Given the description of an element on the screen output the (x, y) to click on. 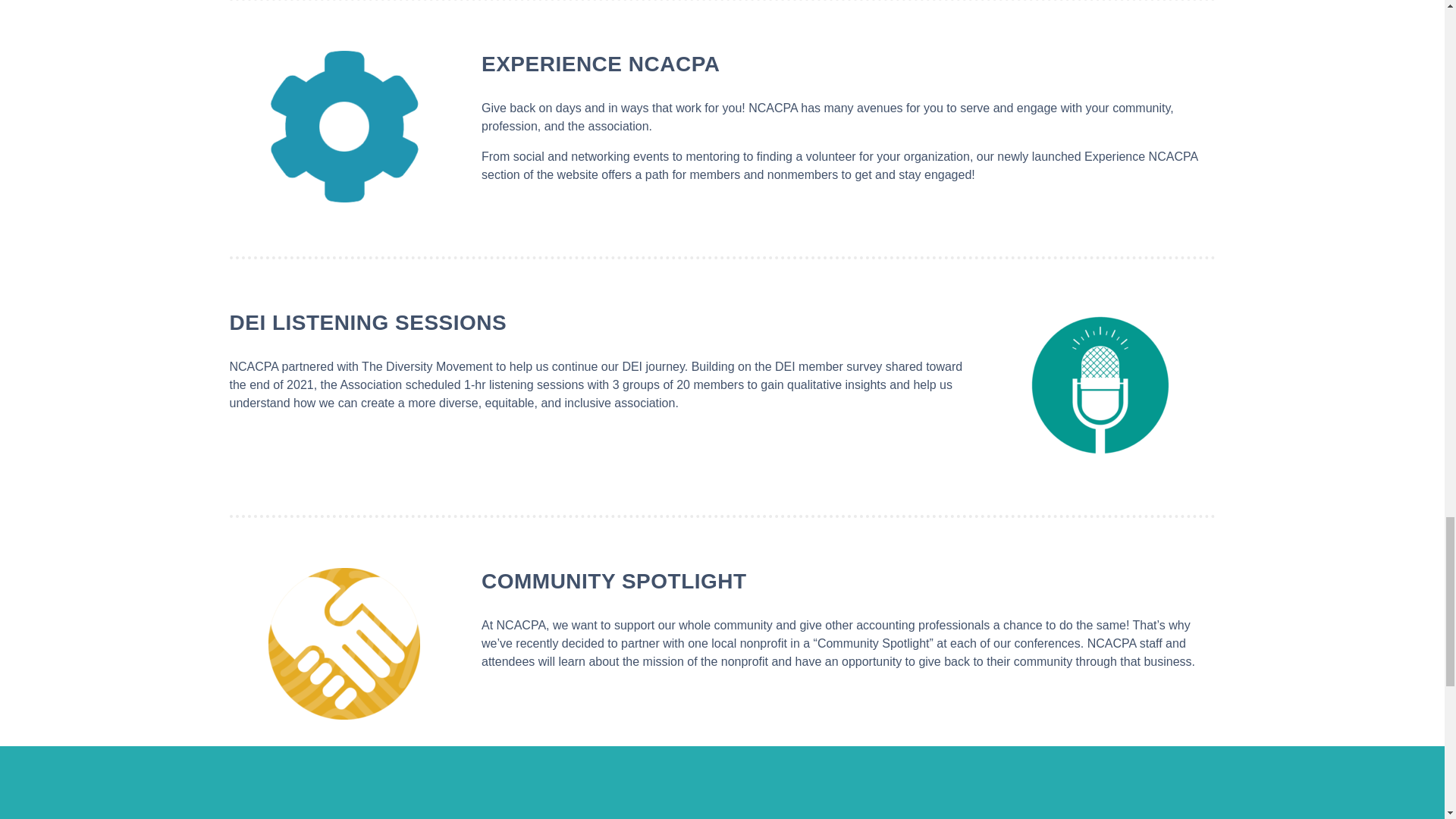
podcast-benefits (1100, 385)
DEI-community-icon (343, 643)
member-dashboard-gear (343, 126)
